Given the description of an element on the screen output the (x, y) to click on. 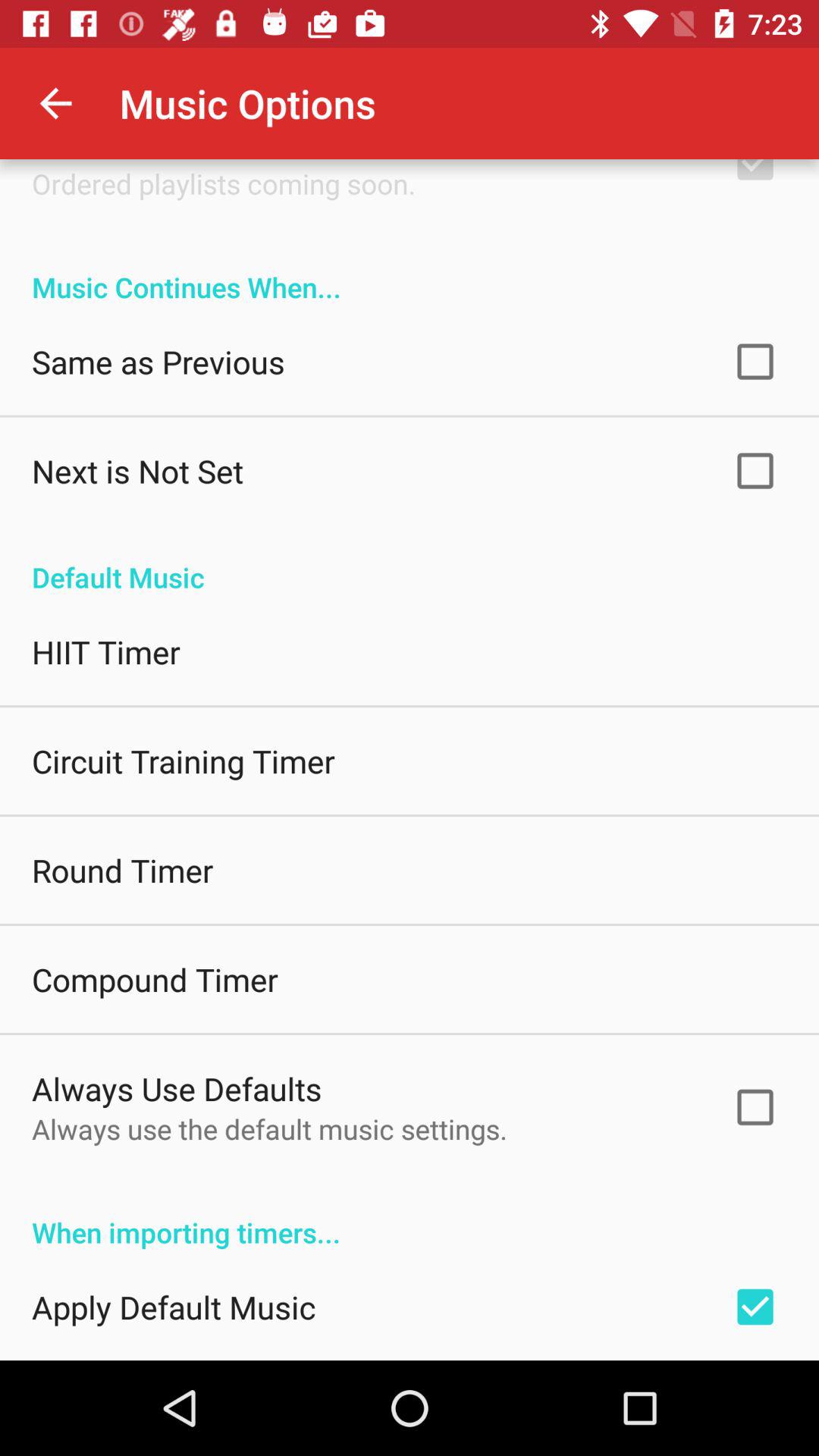
turn on the item above next is not icon (157, 361)
